Given the description of an element on the screen output the (x, y) to click on. 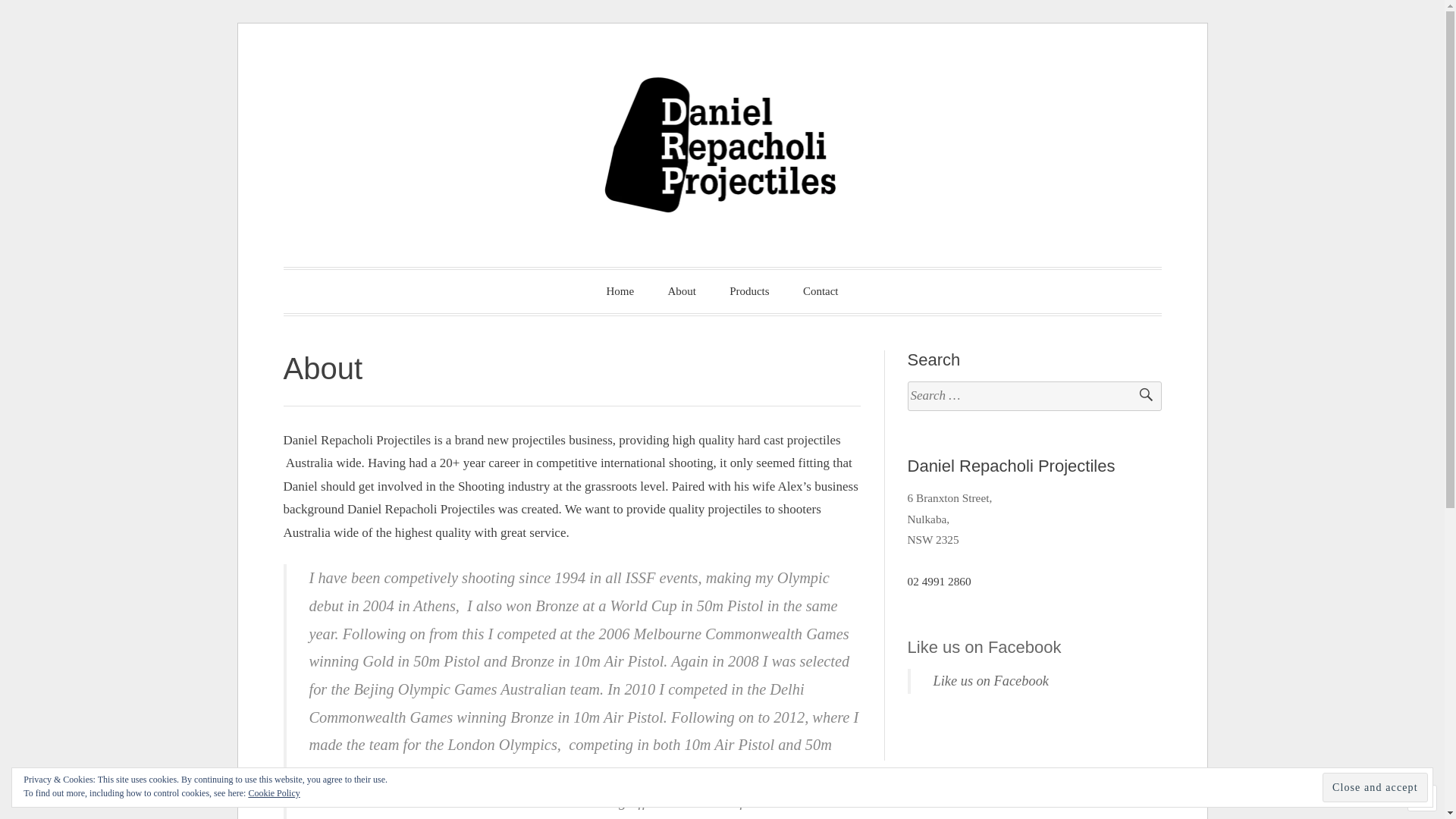
Contact Element type: text (820, 291)
6 Branxton Street,
Nulkaba,
NSW 2325 Element type: text (949, 529)
Home Element type: text (619, 291)
Products Element type: text (749, 291)
Search Element type: text (1138, 396)
Like us on Facebook Element type: text (984, 646)
About Element type: text (681, 291)
Like us on Facebook Element type: text (990, 680)
Close and accept Element type: text (1374, 787)
Cookie Policy Element type: text (273, 792)
